Given the description of an element on the screen output the (x, y) to click on. 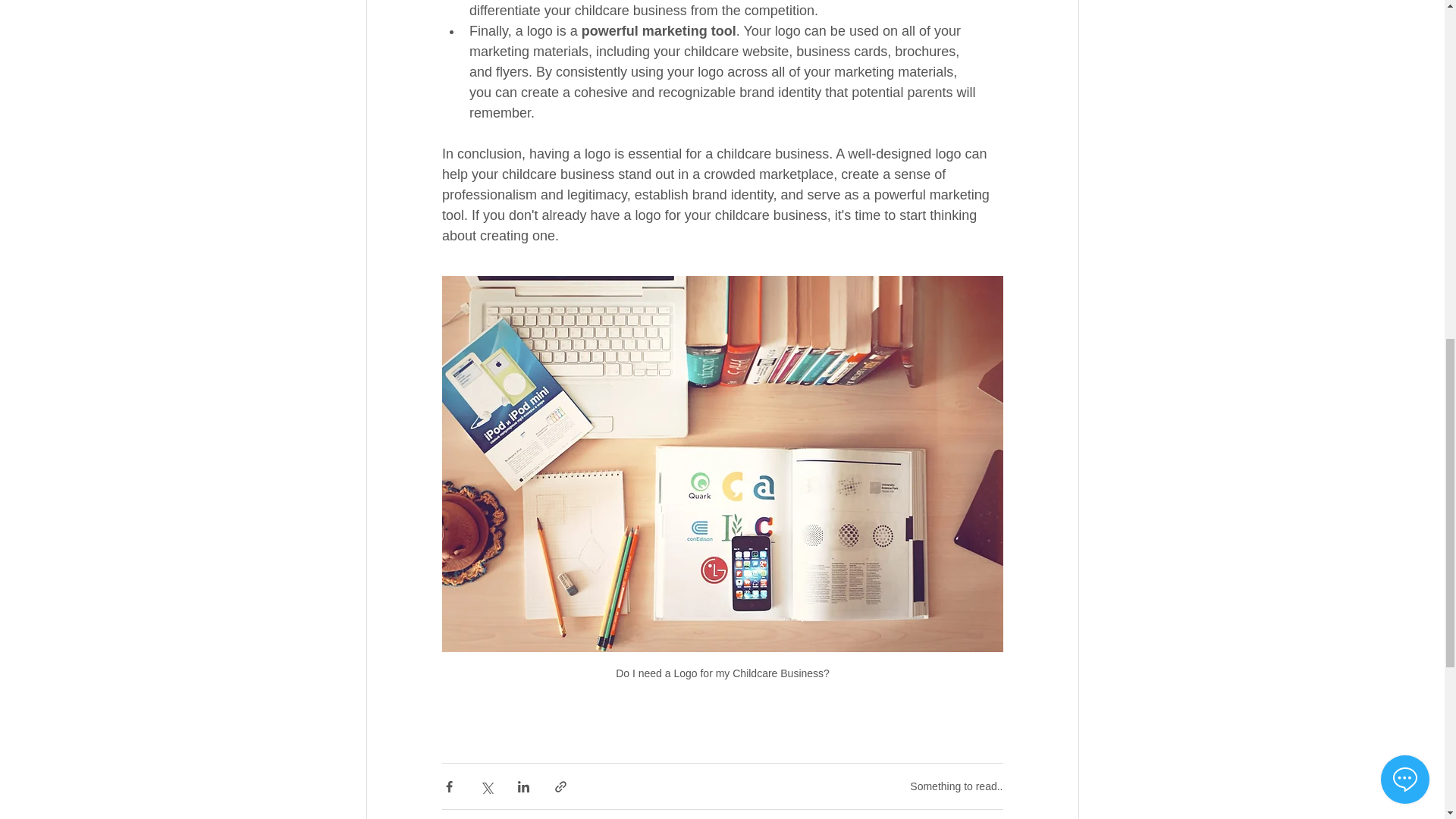
Something to read.. (956, 786)
